Given the description of an element on the screen output the (x, y) to click on. 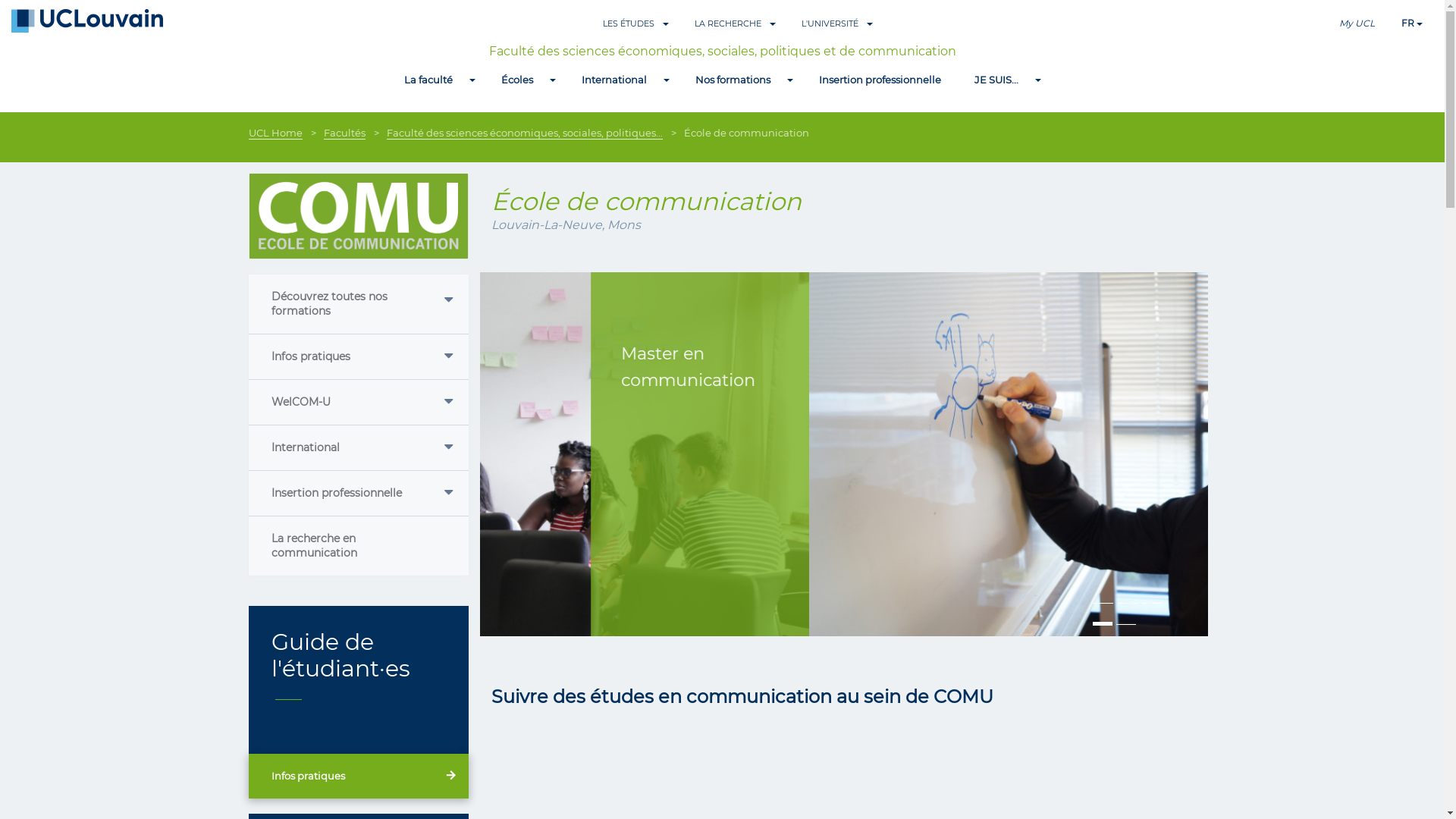
show menu Element type: hover (551, 79)
Infos pratiques Element type: text (358, 356)
International Element type: text (614, 79)
JE SUIS... Element type: text (996, 79)
show menu Element type: hover (788, 79)
Master en communication Element type: text (1086, 366)
Insertion professionnelle Element type: text (878, 79)
FR Element type: text (1407, 26)
La recherche en communication Element type: text (358, 545)
LA RECHERCHE Element type: text (727, 21)
Insertion professionnelle Element type: text (358, 492)
Aller au contenu principal Element type: text (68, 0)
Master en communication Element type: hover (843, 454)
show menu Element type: hover (471, 79)
Infos pratiques Element type: text (358, 775)
show menu Element type: hover (665, 79)
Nos formations Element type: text (732, 79)
International Element type: text (358, 447)
UCL Home Element type: text (275, 132)
show menu Element type: hover (1036, 79)
WelCOM-U Element type: text (358, 401)
My UCL Element type: text (1356, 26)
Accueil Element type: hover (87, 20)
